Given the description of an element on the screen output the (x, y) to click on. 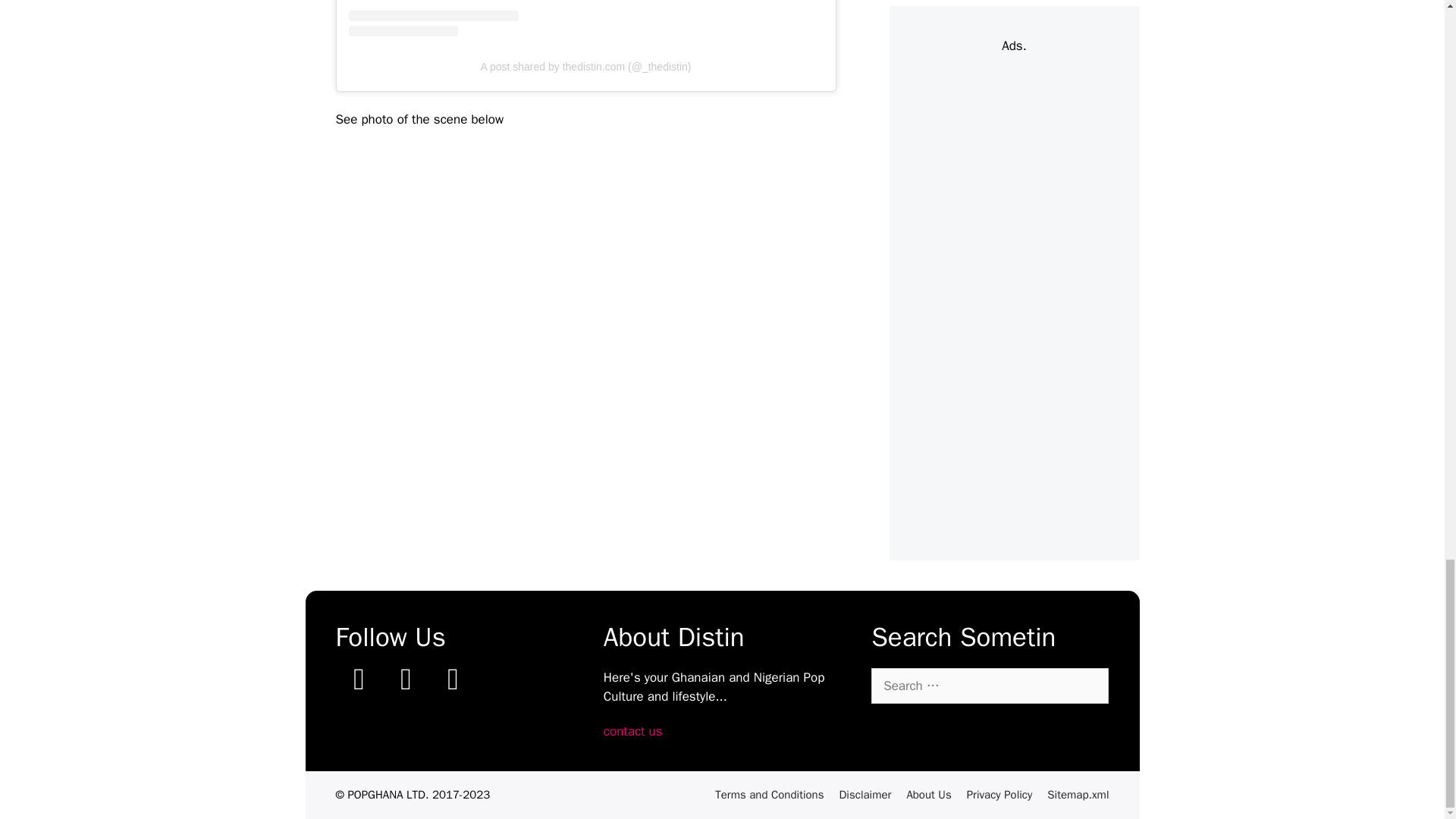
contact us (633, 731)
Privacy Policy (999, 794)
Search for: (989, 686)
View this post on Instagram (586, 18)
About Us (927, 794)
Terms and Conditions (769, 794)
Disclaimer (864, 794)
Sitemap.xml (1077, 794)
